Given the description of an element on the screen output the (x, y) to click on. 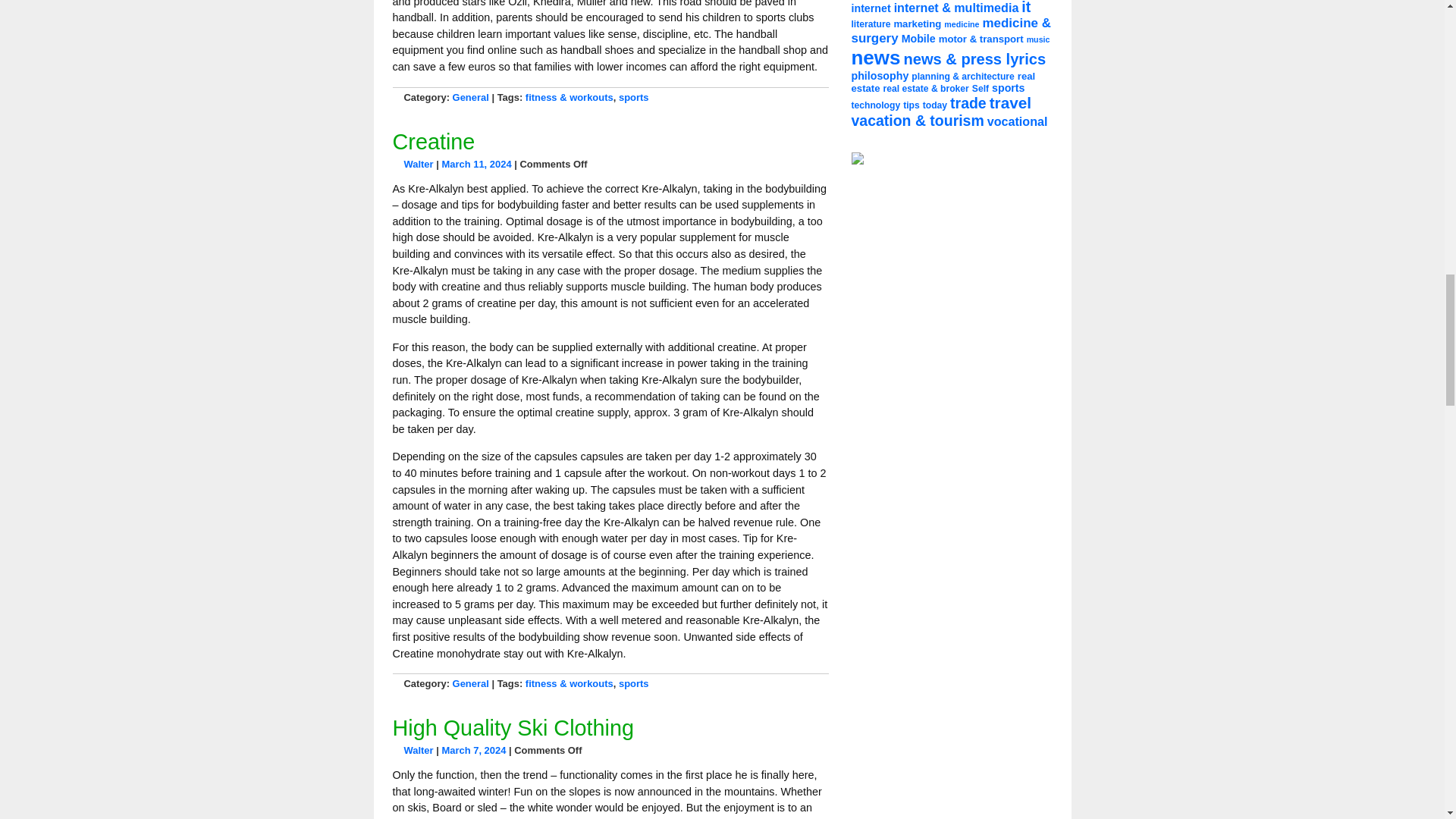
High Quality Ski Clothing (513, 727)
Posts by Walter (417, 163)
March 7, 2024 (473, 749)
sports (633, 683)
General (470, 97)
Creatine (434, 141)
sports (633, 97)
Walter (417, 163)
Walter (417, 749)
March 11, 2024 (476, 163)
General (470, 683)
Posts by Walter (417, 749)
